Given the description of an element on the screen output the (x, y) to click on. 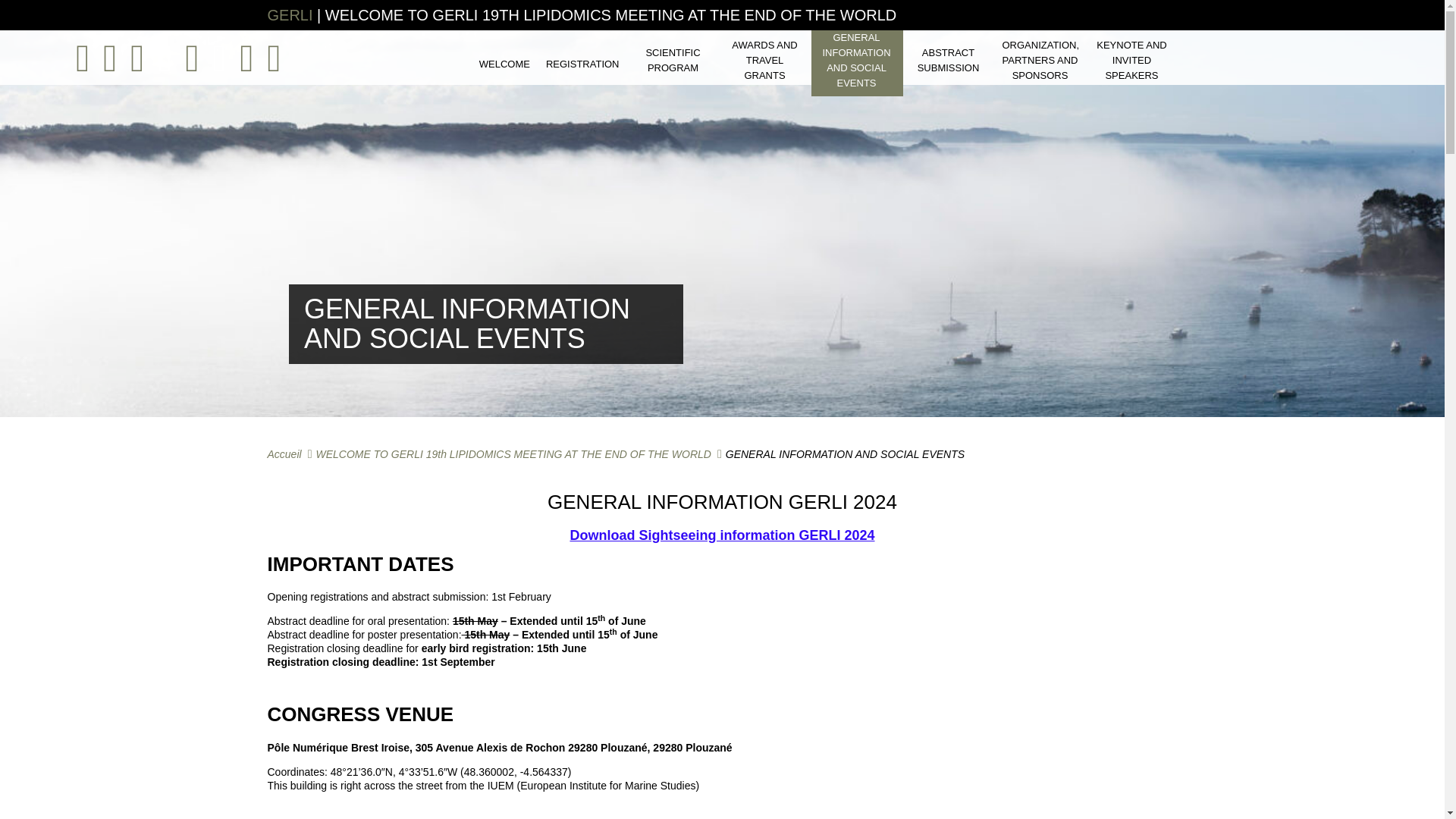
Download Sightseeing information GERLI 2024 (722, 534)
ORGANIZATION, PARTNERS AND SPONSORS (1040, 60)
WELCOME (504, 63)
GENERAL INFORMATION GERLI 2024 (721, 501)
ABSTRACT SUBMISSION (948, 60)
SCIENTIFIC PROGRAM (673, 60)
GERLI (289, 14)
GENERAL INFORMATION AND SOCIAL EVENTS (856, 60)
REGISTRATION (582, 63)
Go to GERLI. (283, 453)
KEYNOTE AND INVITED SPEAKERS (1131, 60)
Accueil (283, 453)
AWARDS AND TRAVEL GRANTS (764, 60)
